Given the description of an element on the screen output the (x, y) to click on. 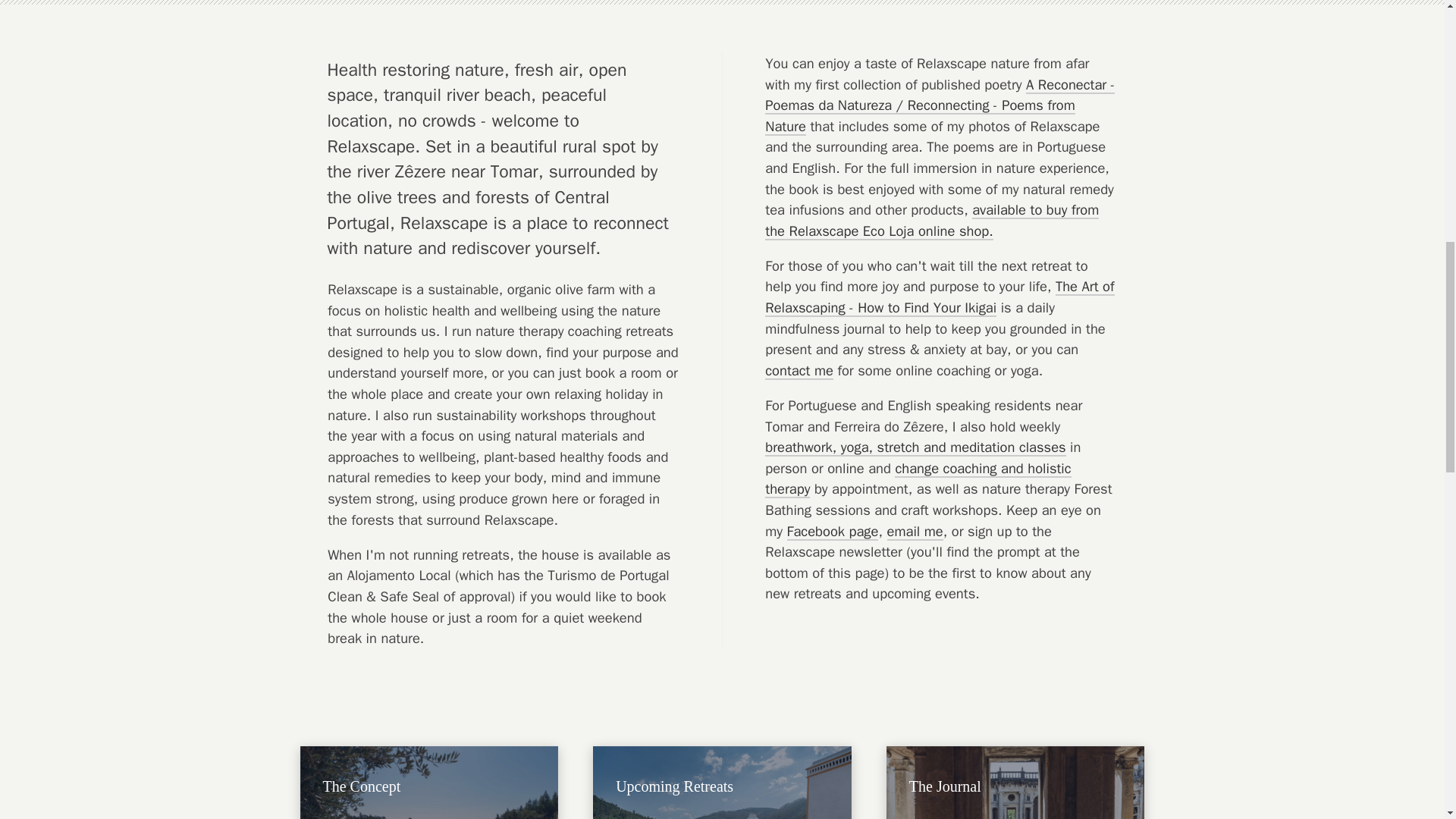
email me (914, 531)
available to buy from the Relaxscape Eco Loja online shop. (932, 220)
change coaching and holistic therapy (917, 478)
Facebook page (833, 531)
contact me (798, 370)
The Art of Relaxscaping - How to Find Your Ikigai (939, 296)
breathwork, yoga, stretch and meditation classes (915, 447)
